Given the description of an element on the screen output the (x, y) to click on. 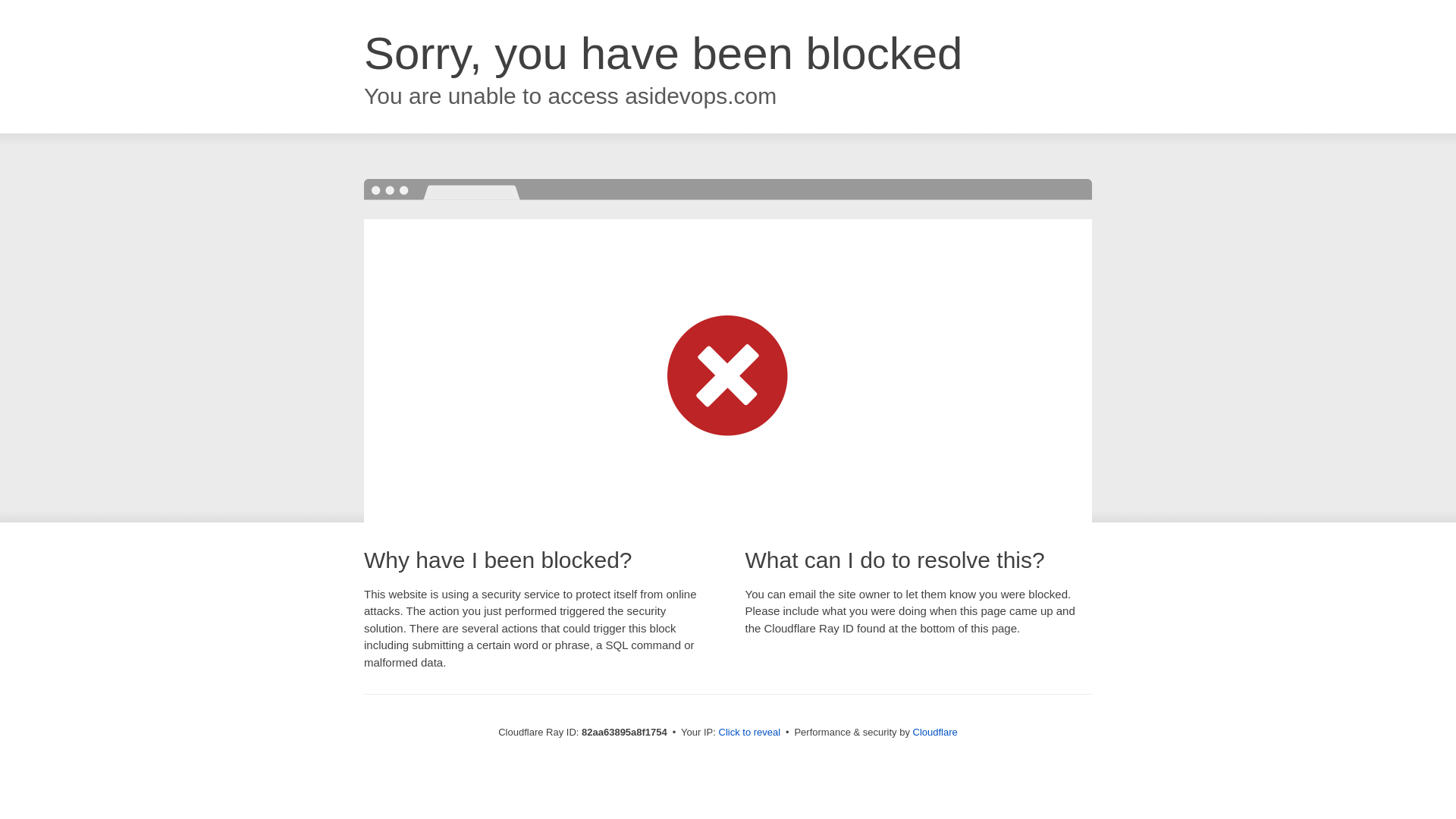
Click to reveal Element type: text (749, 732)
Cloudflare Element type: text (935, 731)
